Given the description of an element on the screen output the (x, y) to click on. 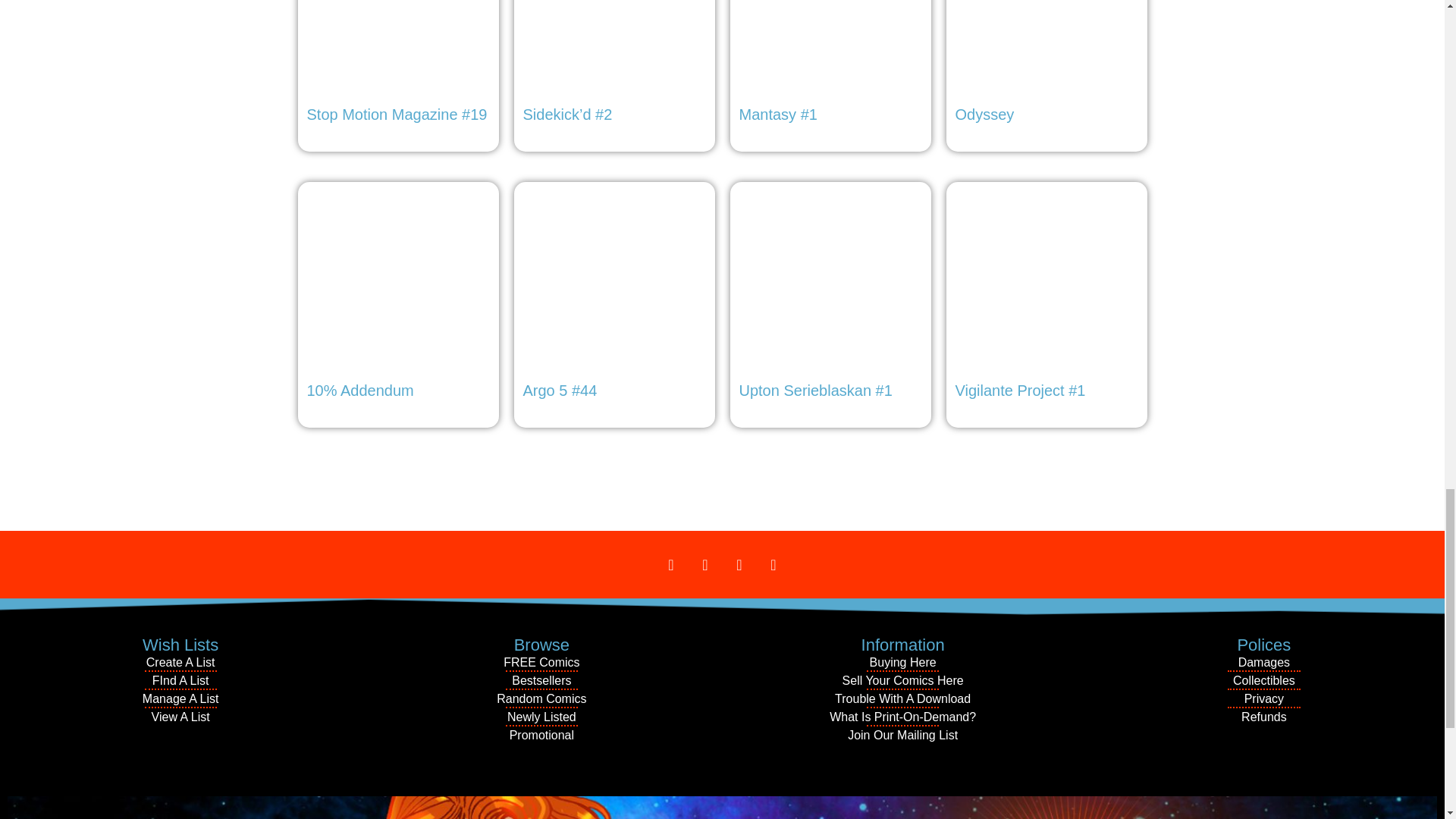
Odyssey (1046, 65)
